Given the description of an element on the screen output the (x, y) to click on. 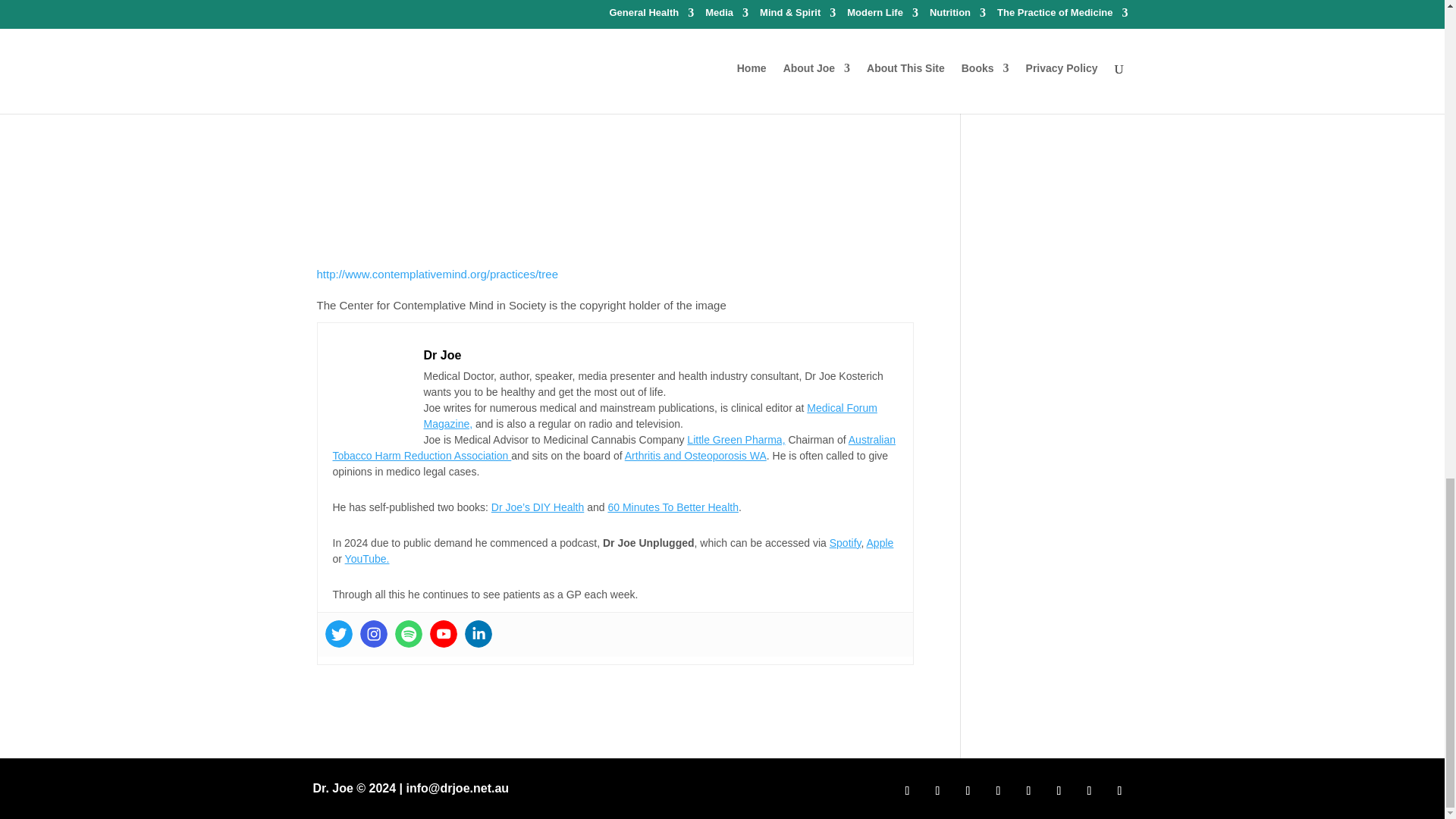
Twitter (338, 633)
Spotify (408, 633)
Instagram (373, 633)
Youtube (443, 633)
Linkedin (478, 633)
